Given the description of an element on the screen output the (x, y) to click on. 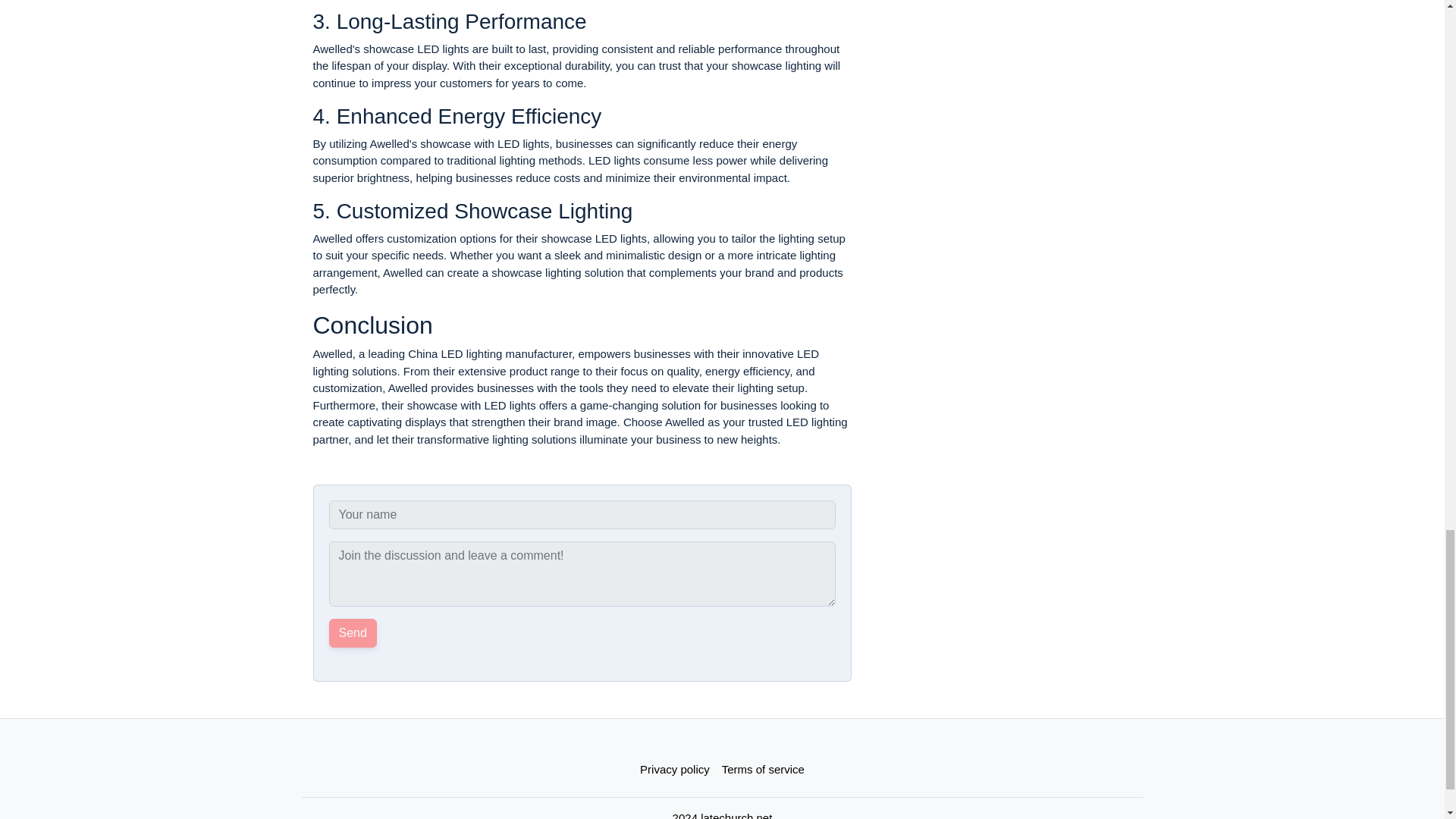
Send (353, 633)
Send (353, 633)
